Given the description of an element on the screen output the (x, y) to click on. 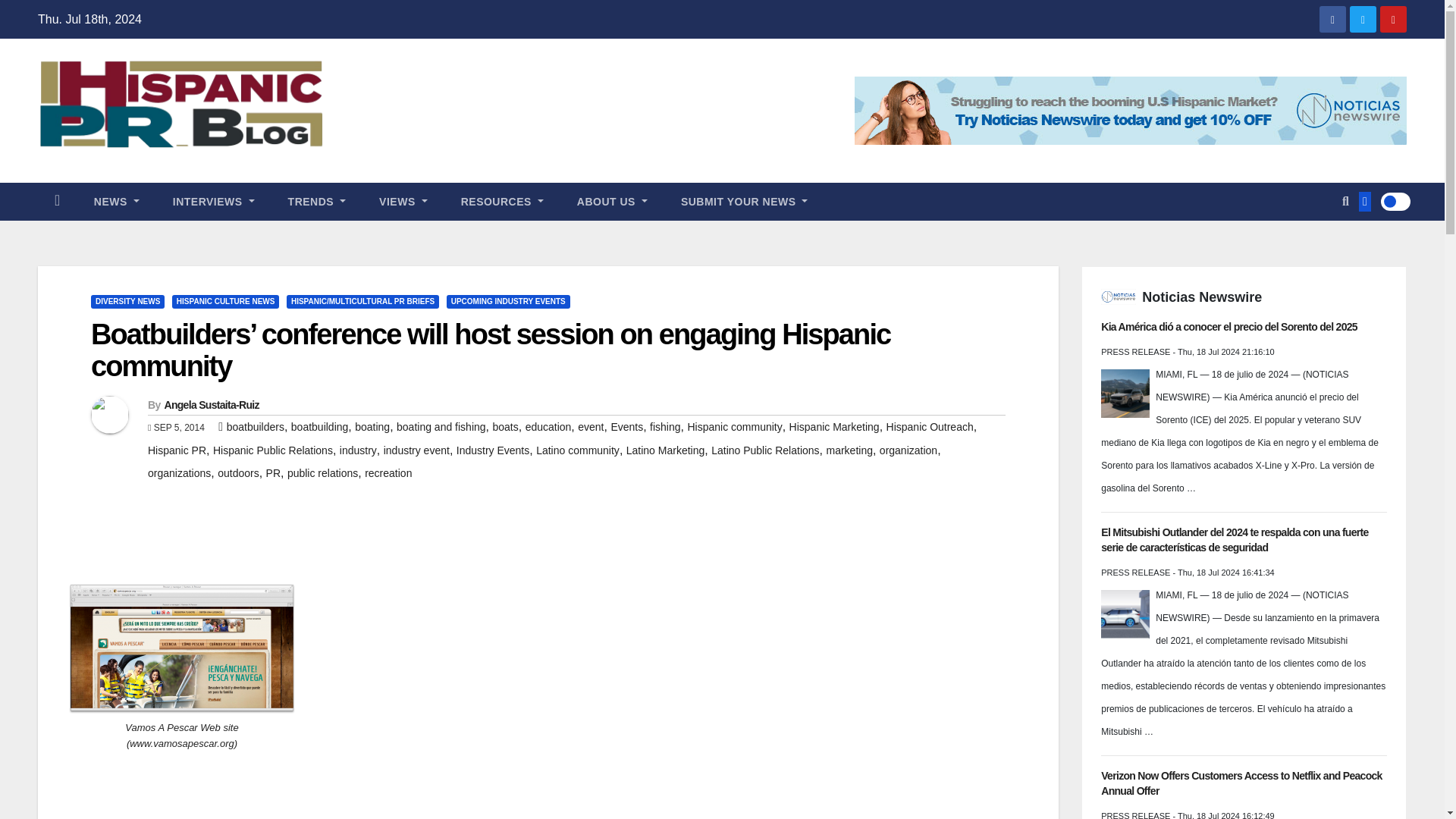
Home (57, 201)
RESOURCES (502, 201)
INTERVIEWS (212, 201)
Interviews (212, 201)
NEWS (116, 201)
TRENDS (316, 201)
News (116, 201)
VIEWS (403, 201)
Trends (316, 201)
Views (403, 201)
